Given the description of an element on the screen output the (x, y) to click on. 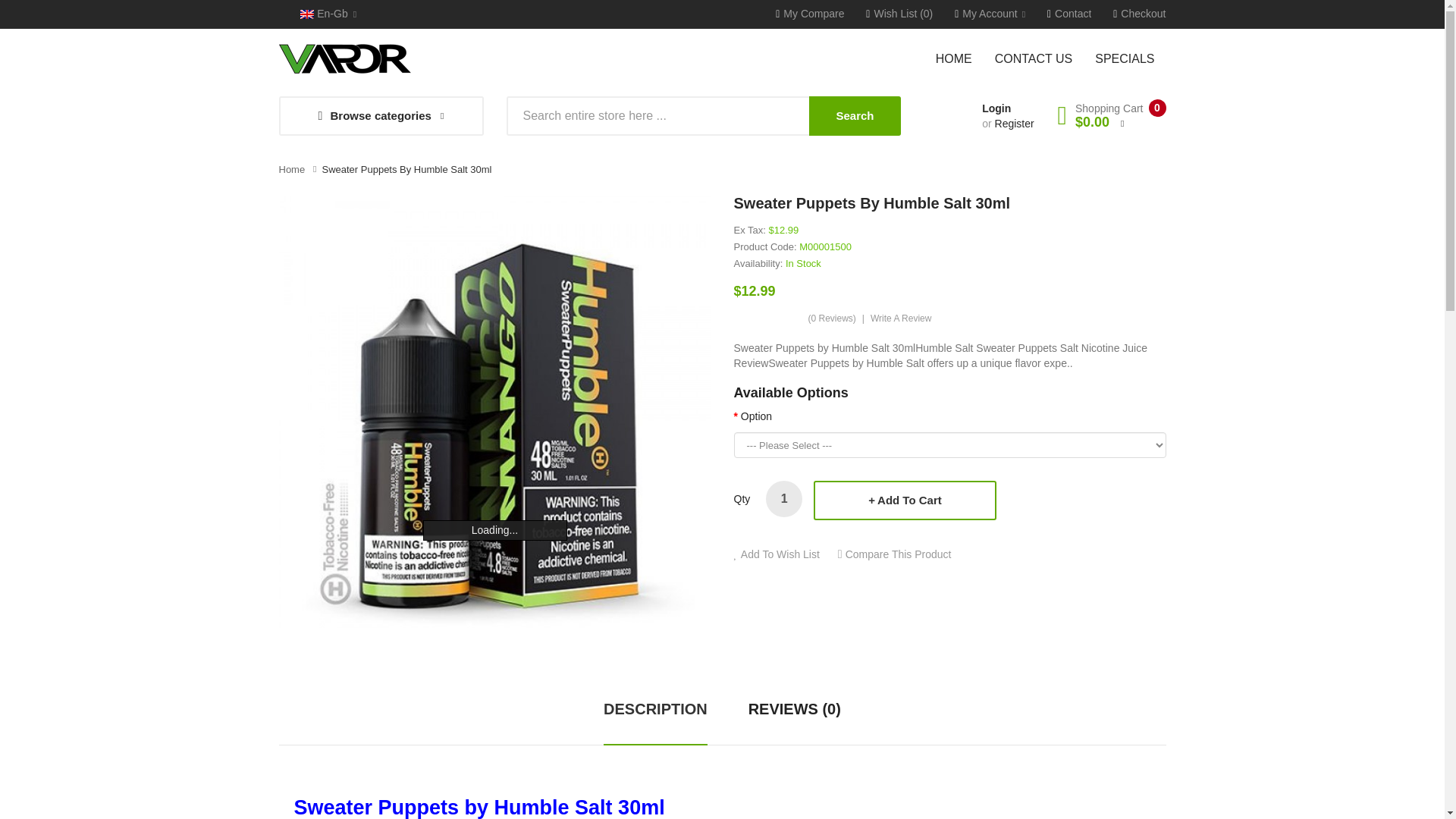
Add To Wish List (776, 553)
Home (292, 169)
Checkout (1139, 13)
vaporsee (344, 58)
My Compare (810, 13)
Search (854, 115)
My Compare (810, 13)
Login (995, 108)
HOME (960, 57)
CONTACT US (1034, 57)
